Given the description of an element on the screen output the (x, y) to click on. 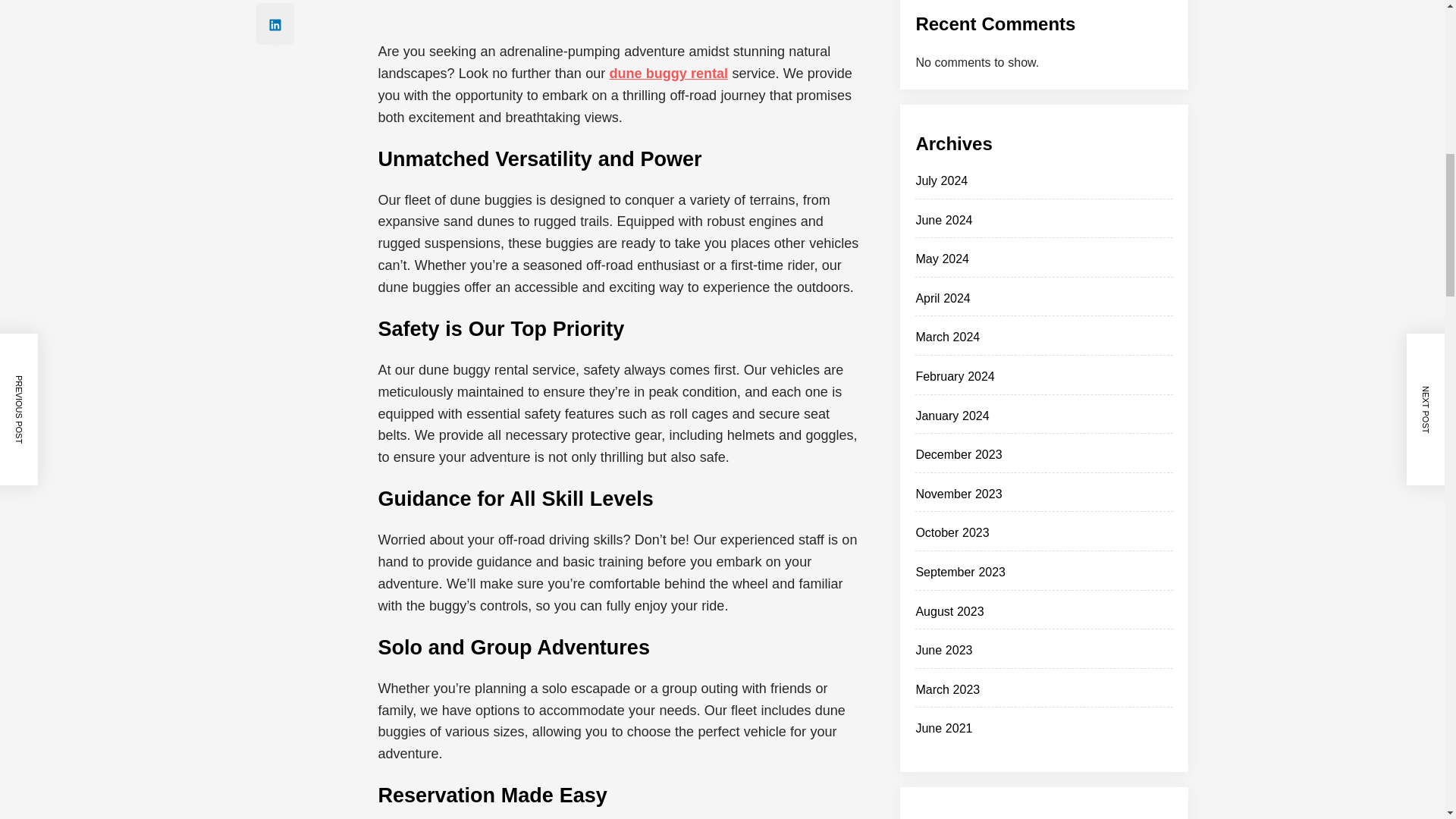
dune buggy rental (668, 73)
